Given the description of an element on the screen output the (x, y) to click on. 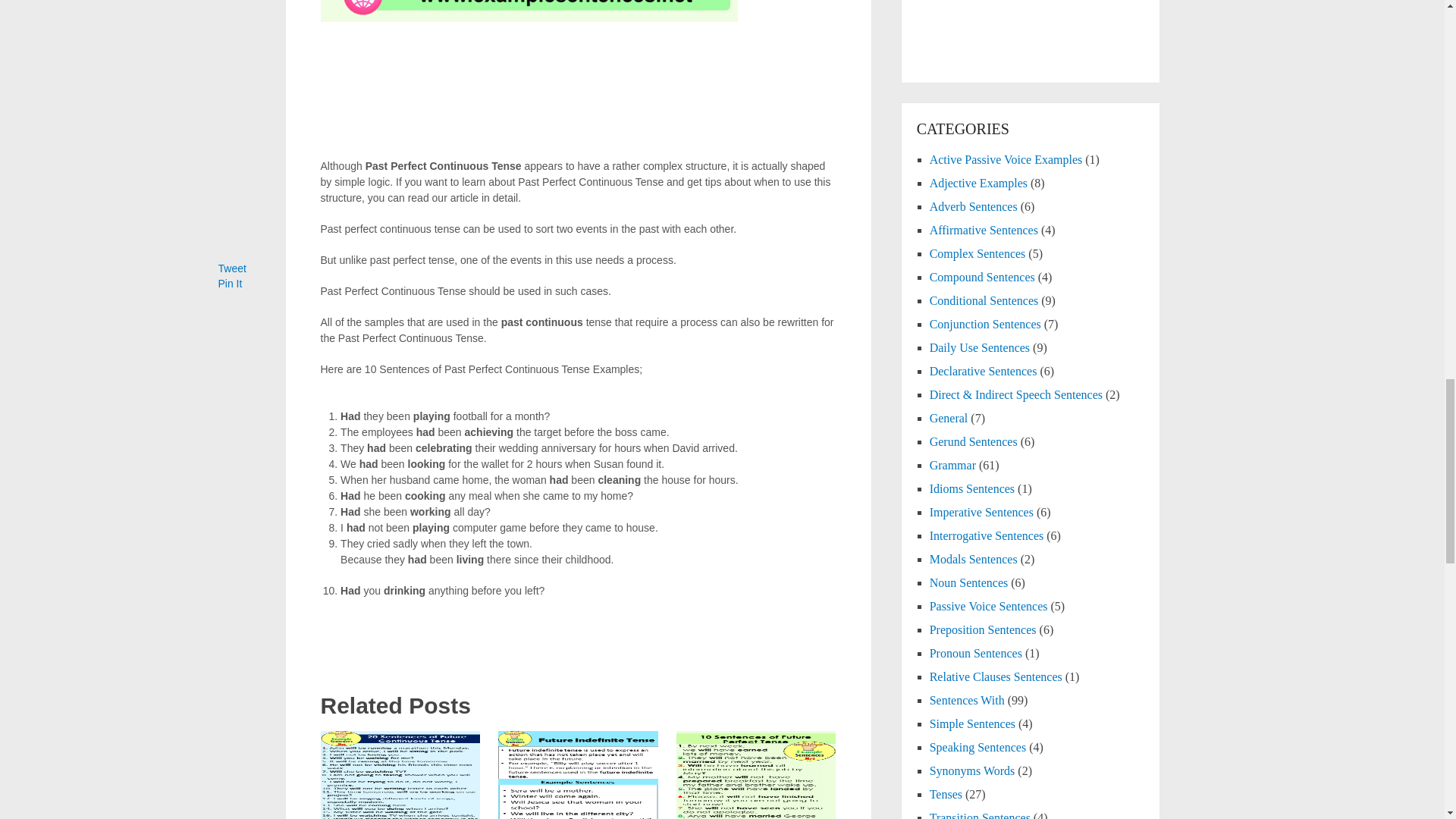
10 Sentences of Future Perfect Tense Examples (756, 775)
Future Indefinite Tense Sentences and Definition (577, 775)
